Given the description of an element on the screen output the (x, y) to click on. 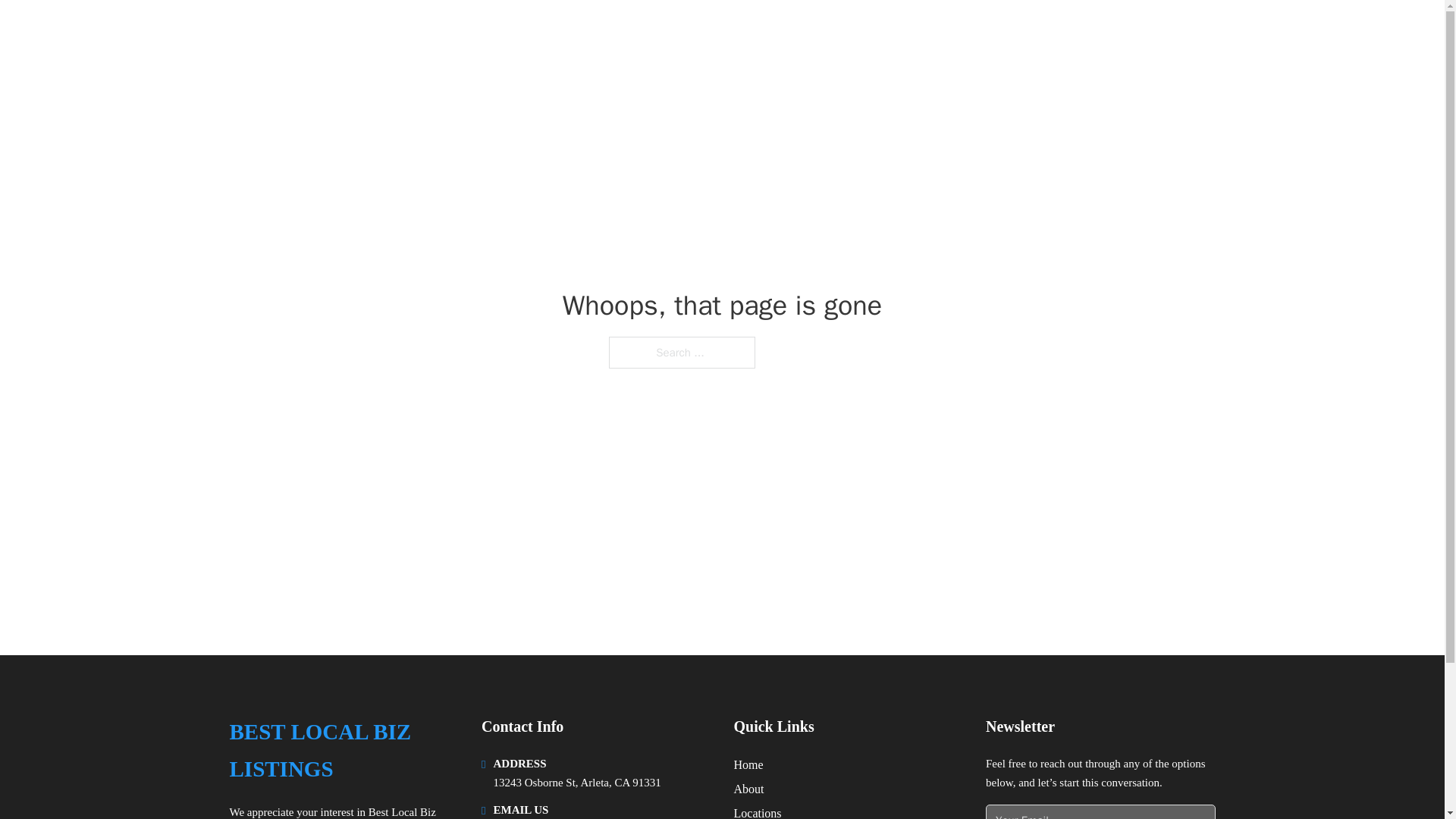
About (748, 788)
BEST LOCAL BIZ LISTINGS (343, 750)
Home (747, 764)
BEST LOCAL BIZ LISTINGS (389, 31)
LOCATIONS (1098, 31)
Locations (757, 811)
HOME (1025, 31)
